Given the description of an element on the screen output the (x, y) to click on. 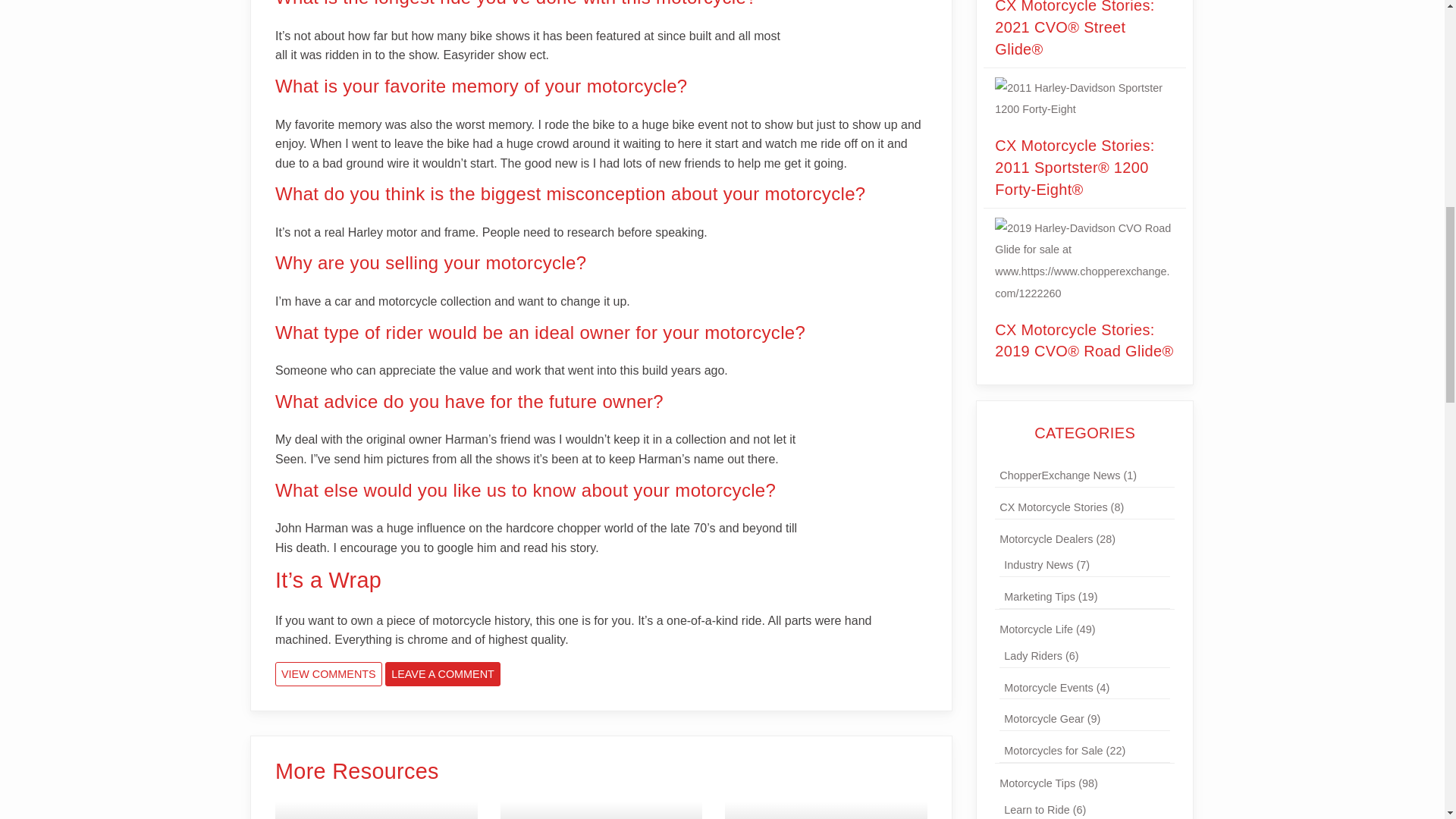
LEAVE A COMMENT (442, 673)
VIEW COMMENTS (328, 673)
VIEW COMMENTS (376, 810)
LEAVE A COMMENT (328, 673)
